Given the description of an element on the screen output the (x, y) to click on. 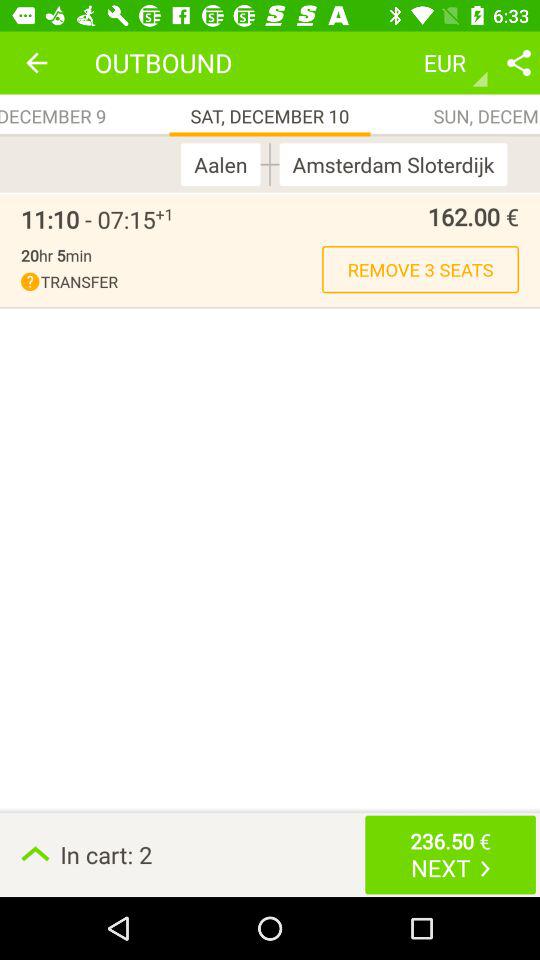
click icon above the transfer item (56, 255)
